Given the description of an element on the screen output the (x, y) to click on. 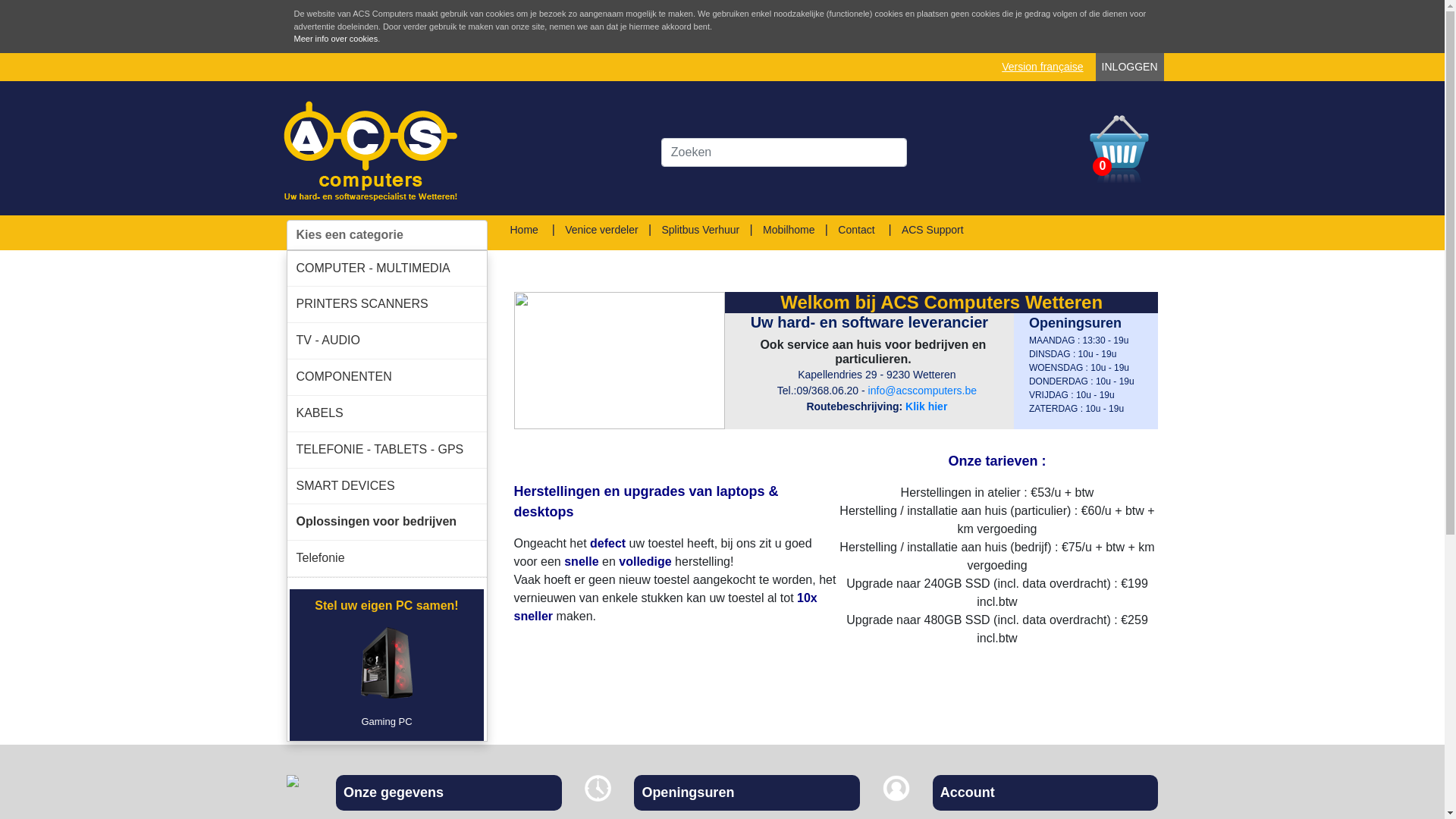
Contact Element type: text (855, 228)
PRINTERS SCANNERS Element type: text (386, 304)
Oplossingen voor bedrijven Element type: text (386, 521)
COMPUTER - MULTIMEDIA Element type: text (386, 267)
KABELS Element type: text (386, 413)
Mobilhome Element type: text (788, 228)
Venice verdeler Element type: text (601, 228)
Kies een categorie Element type: text (386, 234)
SMART DEVICES Element type: text (386, 486)
Splitbus Verhuur Element type: text (700, 228)
Telefonie Element type: text (386, 558)
TELEFONIE - TABLETS - GPS Element type: text (386, 449)
COMPONENTEN Element type: text (386, 377)
info@acscomputers.be Element type: text (922, 390)
Home Element type: text (523, 228)
Klik hier Element type: text (926, 406)
Gaming PC Element type: text (386, 677)
Meer info over cookies Element type: text (336, 38)
ACS Support Element type: text (932, 228)
TV - AUDIO Element type: text (386, 340)
